Given the description of an element on the screen output the (x, y) to click on. 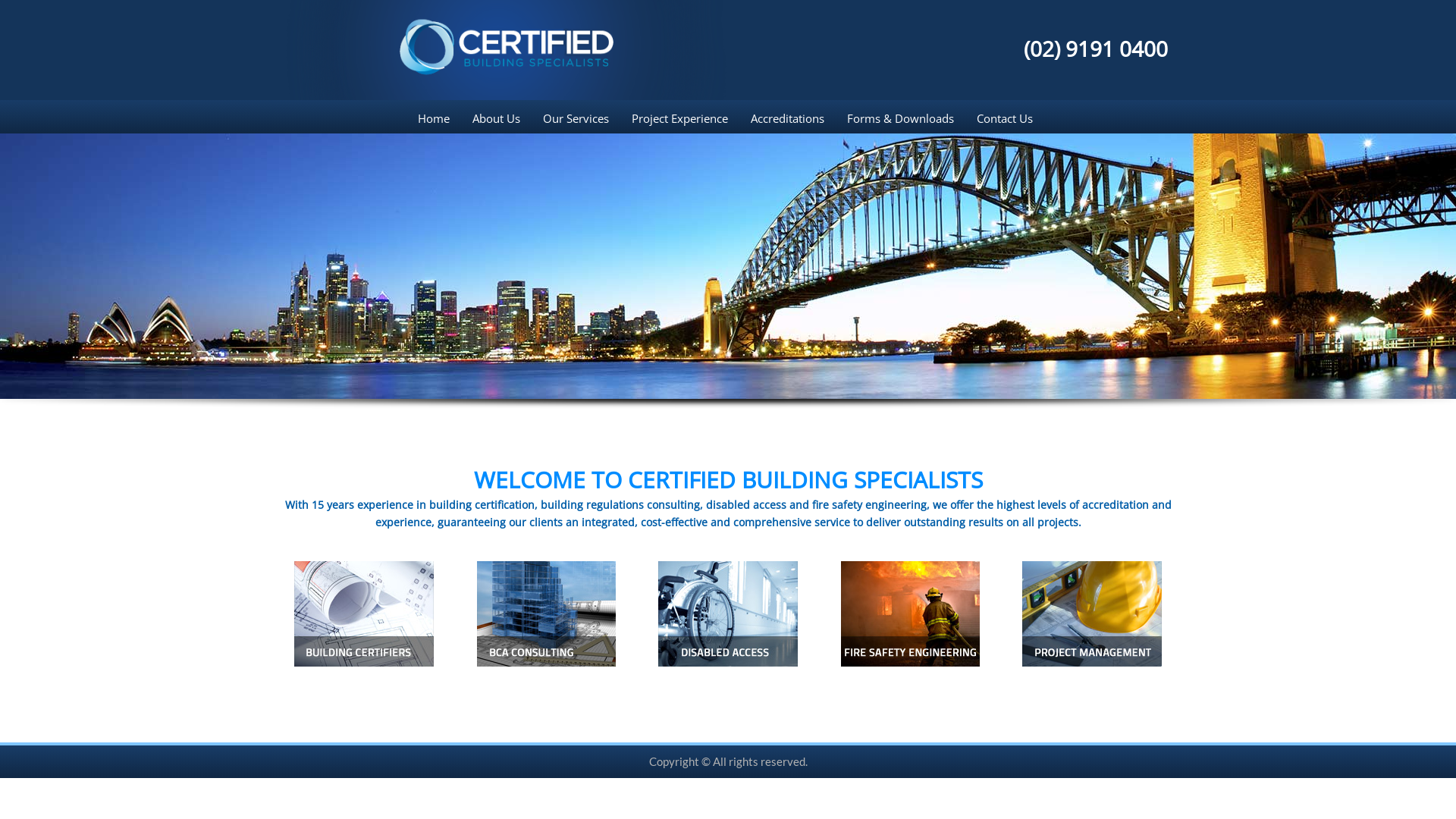
Accreditations Element type: text (786, 118)
Project Experience Element type: text (679, 118)
Our Services Element type: text (574, 118)
Home Element type: text (438, 118)
About Us Element type: text (496, 118)
Contact Us Element type: text (1003, 118)
Forms & Downloads Element type: text (900, 118)
